Given the description of an element on the screen output the (x, y) to click on. 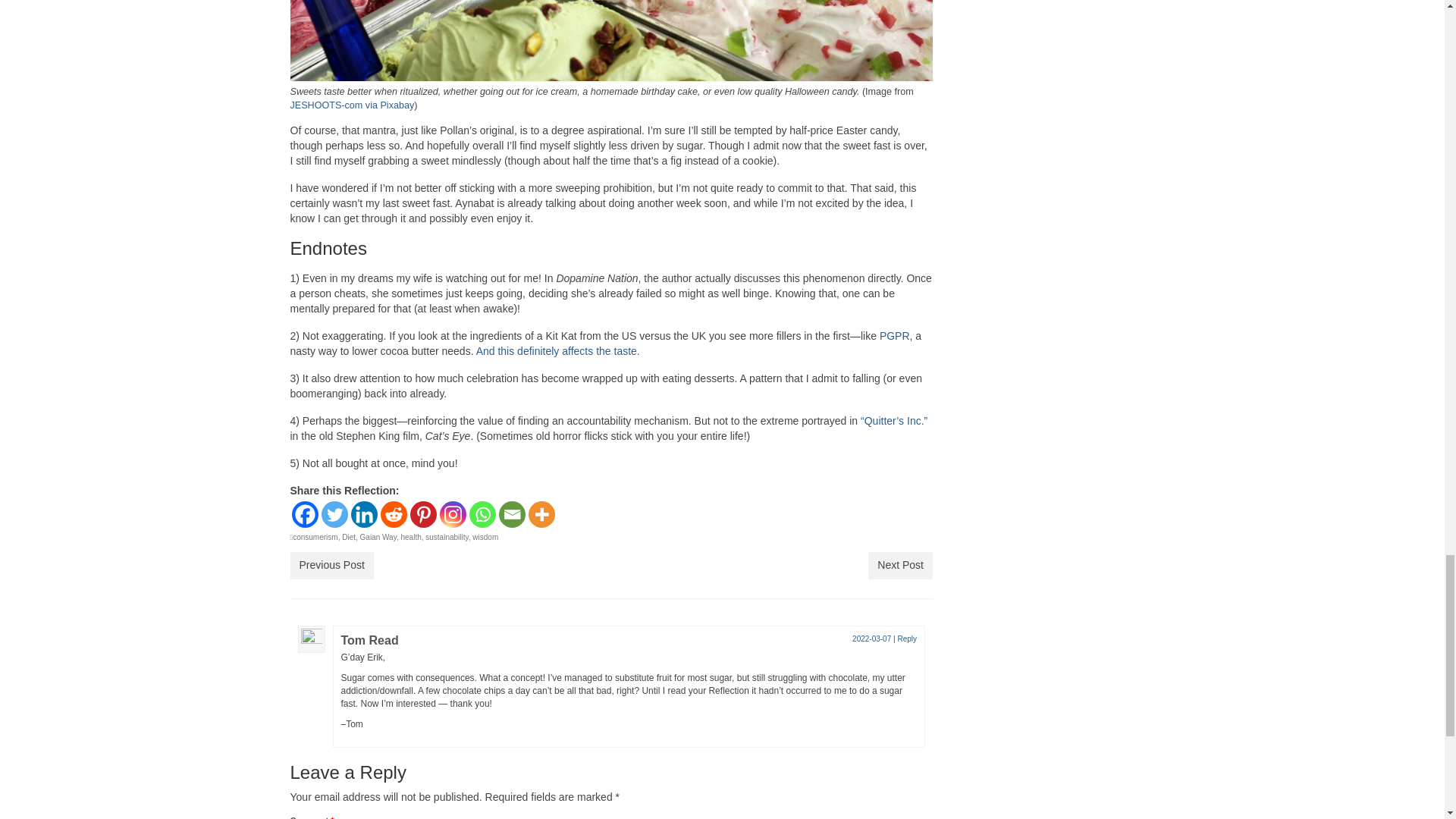
Facebook (304, 514)
Linkedin (363, 514)
JESHOOTS-com via Pixabay (351, 104)
Email (512, 514)
Twitter (334, 514)
And this definitely affects the taste (556, 350)
PGPR (894, 336)
Pinterest (422, 514)
More (540, 514)
Reddit (393, 514)
